Given the description of an element on the screen output the (x, y) to click on. 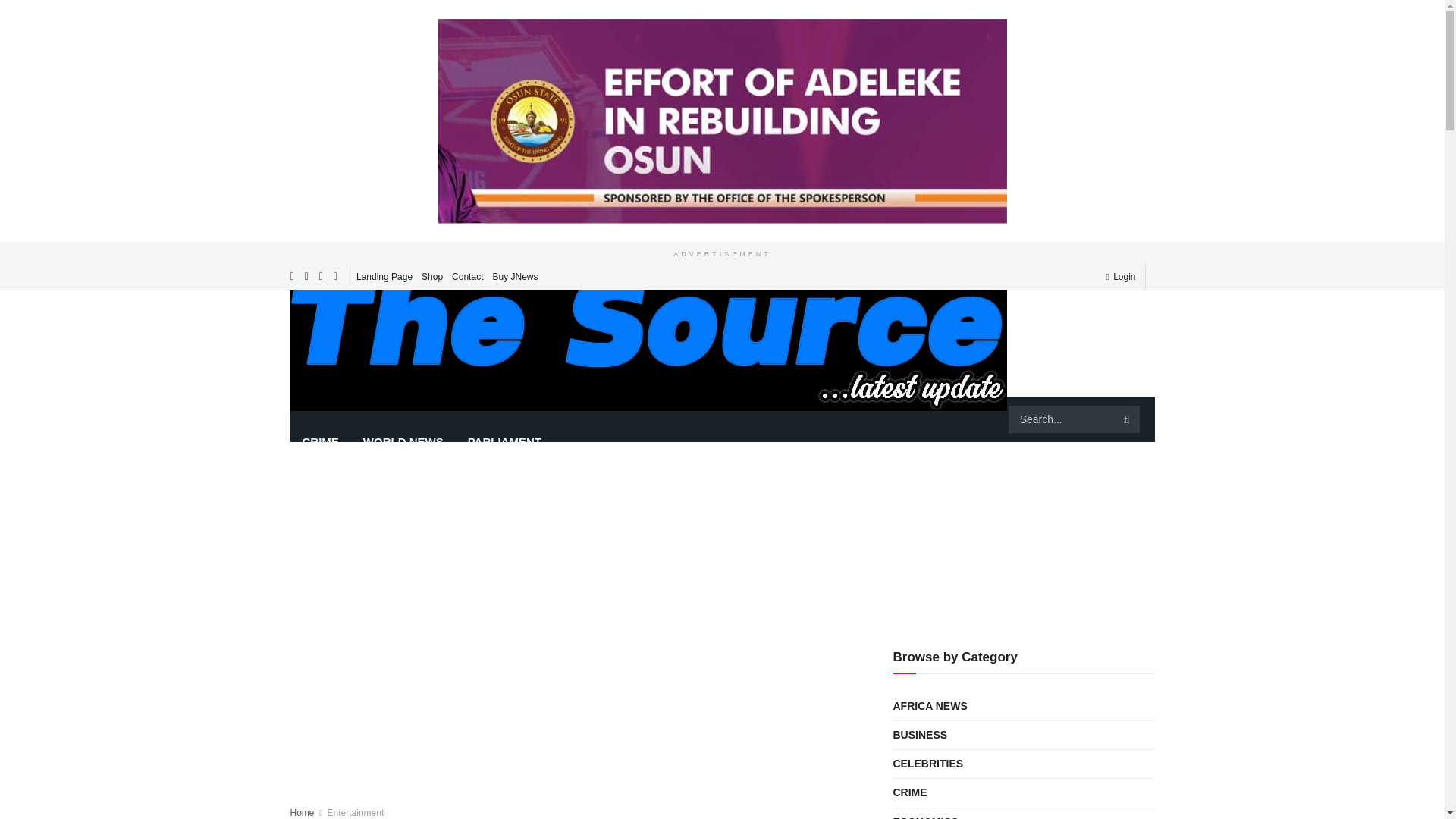
BUSINESS (815, 395)
Advertisement (574, 725)
PARLIAMENT (504, 441)
SPORTS (892, 395)
EDUCATION (529, 395)
NEWS (378, 395)
POLITICS (444, 395)
Login (1120, 276)
HOME (318, 395)
WORLD NEWS (402, 441)
